Given the description of an element on the screen output the (x, y) to click on. 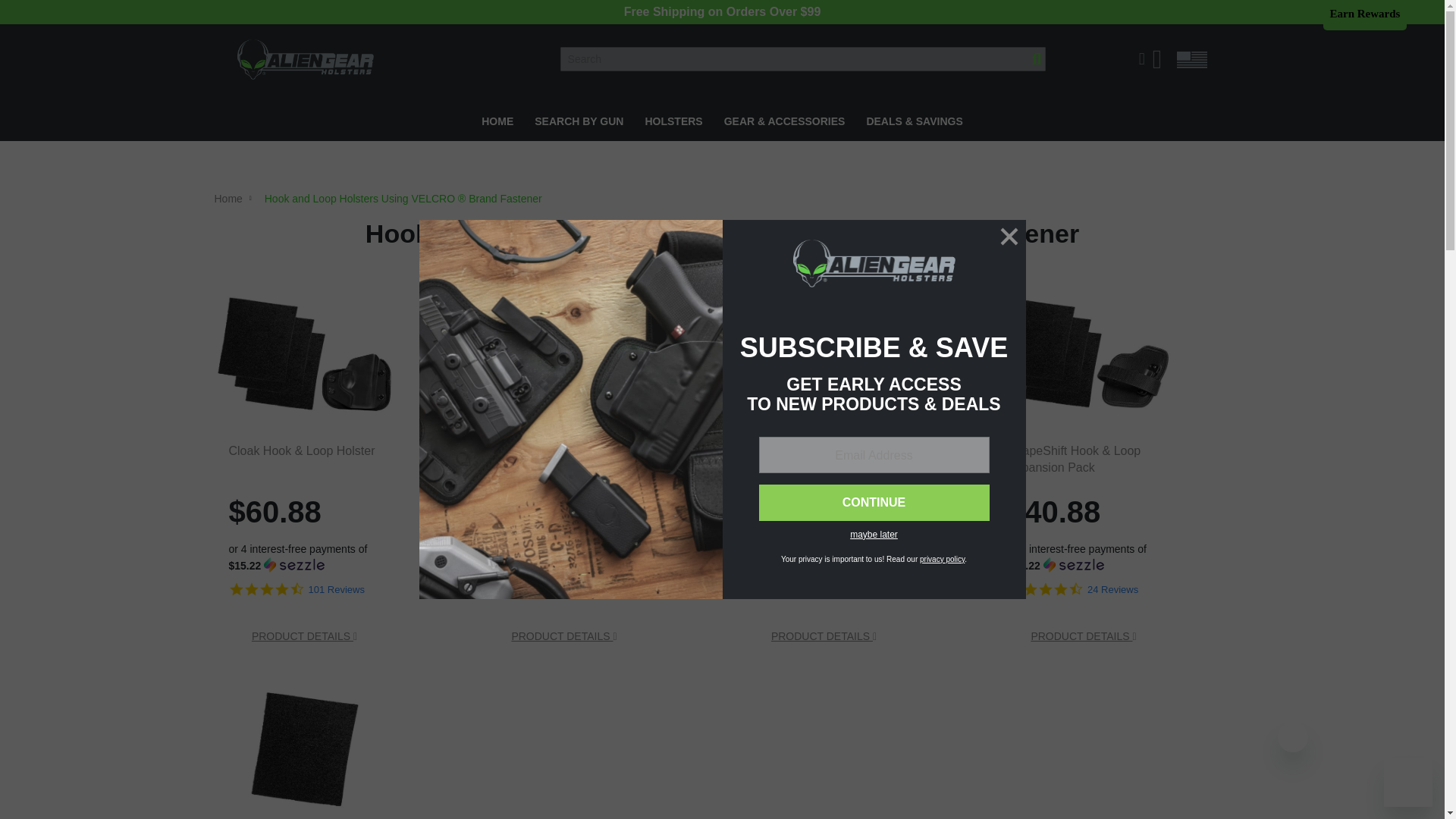
Made In USA (1191, 59)
Alien Gear Holsters (303, 59)
